Given the description of an element on the screen output the (x, y) to click on. 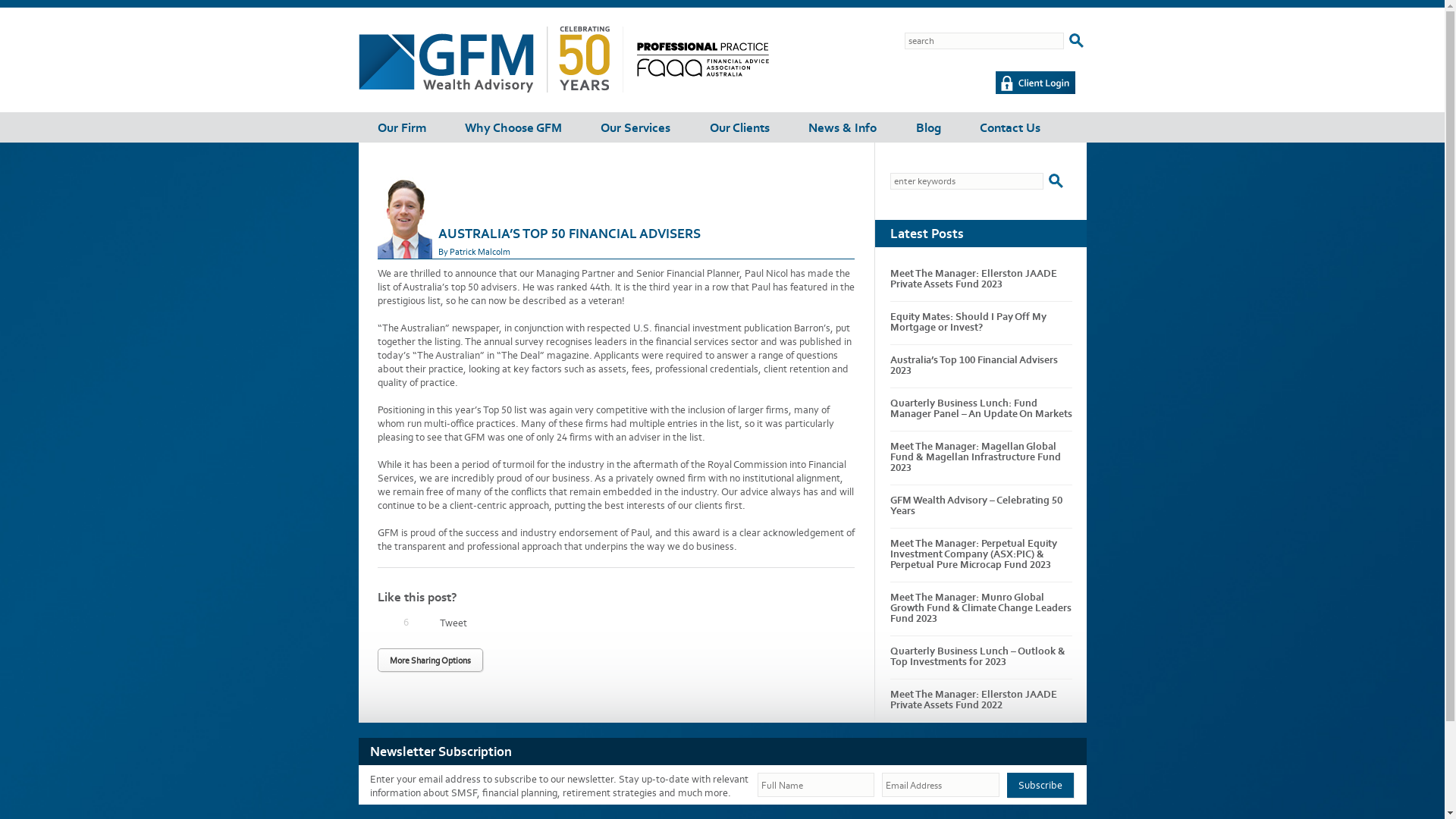
Tweet Element type: text (453, 622)
Our Services Element type: text (635, 123)
Meet The Manager: Ellerston JAADE Private Assets Fund 2023 Element type: text (973, 278)
Our Firm Element type: text (401, 123)
GFM Weath Advisory Element type: hover (489, 88)
GFM Weath Advisory Element type: hover (702, 72)
Why Choose GFM Element type: text (512, 123)
Meet The Manager: Ellerston JAADE Private Assets Fund 2022 Element type: text (973, 699)
Contact Us Element type: text (1009, 123)
More Sharing Options Element type: text (430, 659)
News & Info Element type: text (842, 123)
Equity Mates: Should I Pay Off My Mortgage or Invest? Element type: text (968, 321)
6 Element type: text (385, 622)
Blog Element type: text (928, 123)
Our Clients Element type: text (739, 123)
